Given the description of an element on the screen output the (x, y) to click on. 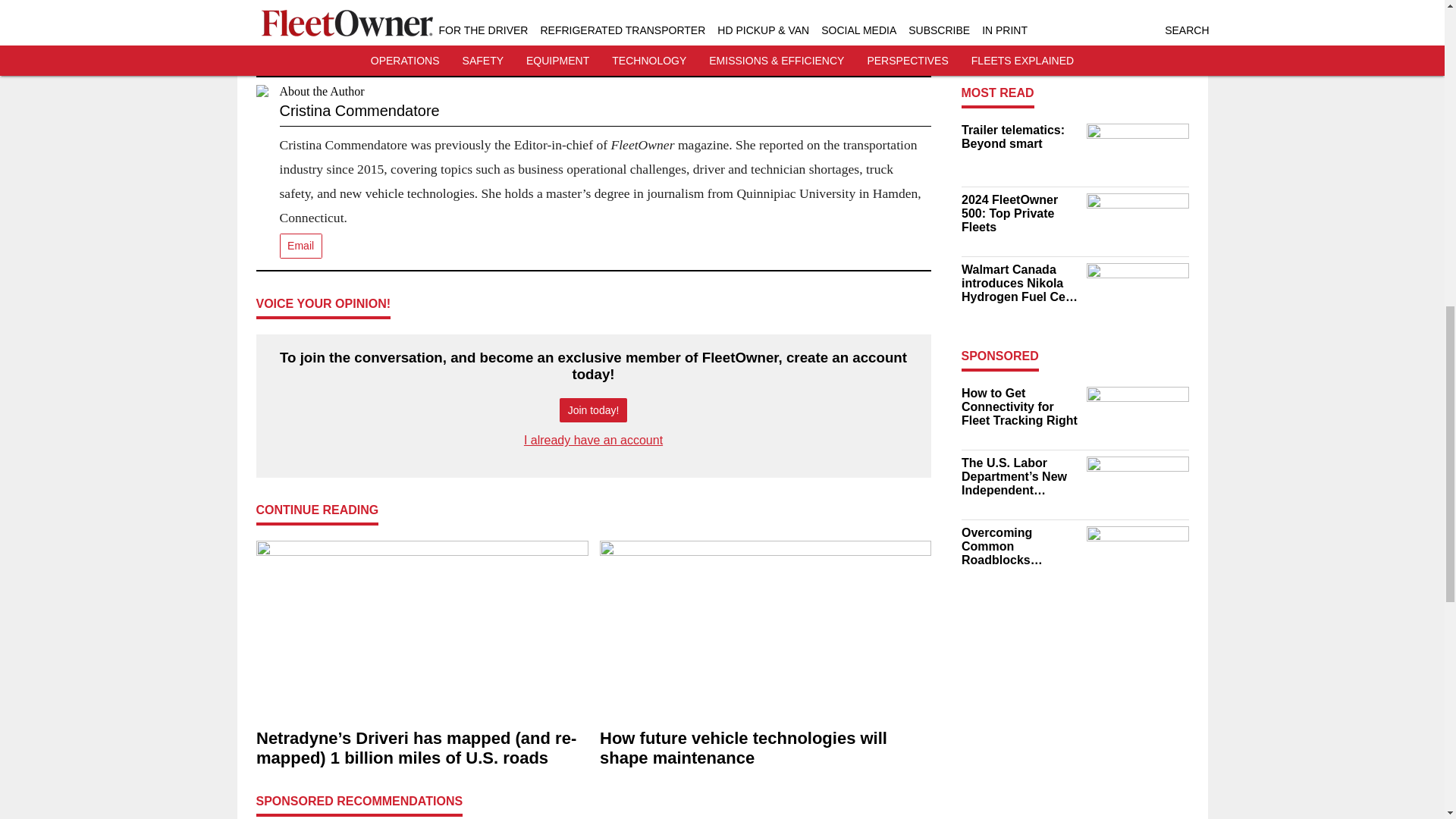
Join today! (593, 410)
Email (300, 245)
I already have an account (593, 440)
How future vehicle technologies will shape maintenance (764, 749)
